Given the description of an element on the screen output the (x, y) to click on. 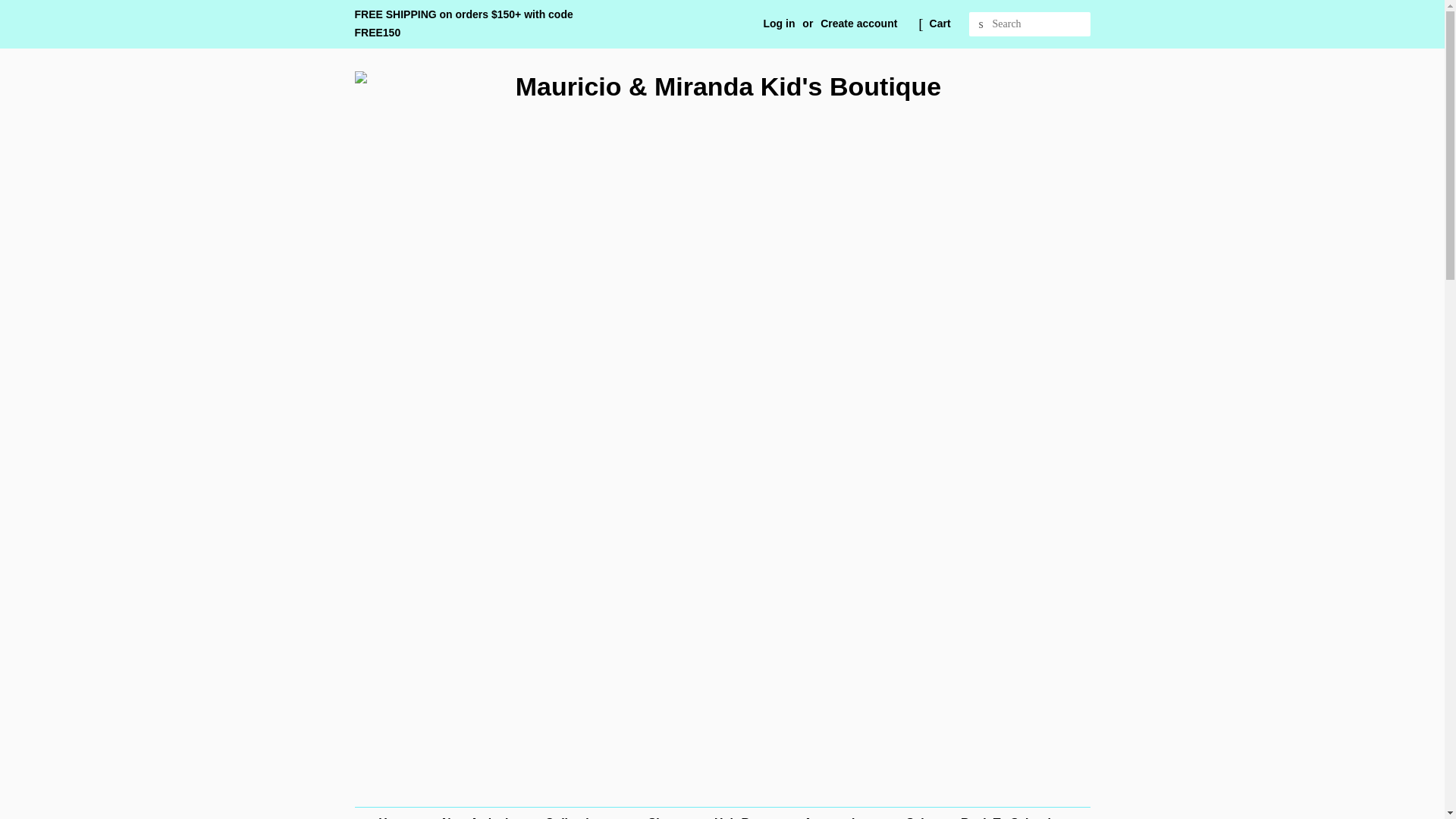
Search (980, 24)
Log in (778, 23)
Cart (940, 24)
New Arrivals (479, 813)
Create account (858, 23)
Home (402, 813)
Collections (583, 813)
